Given the description of an element on the screen output the (x, y) to click on. 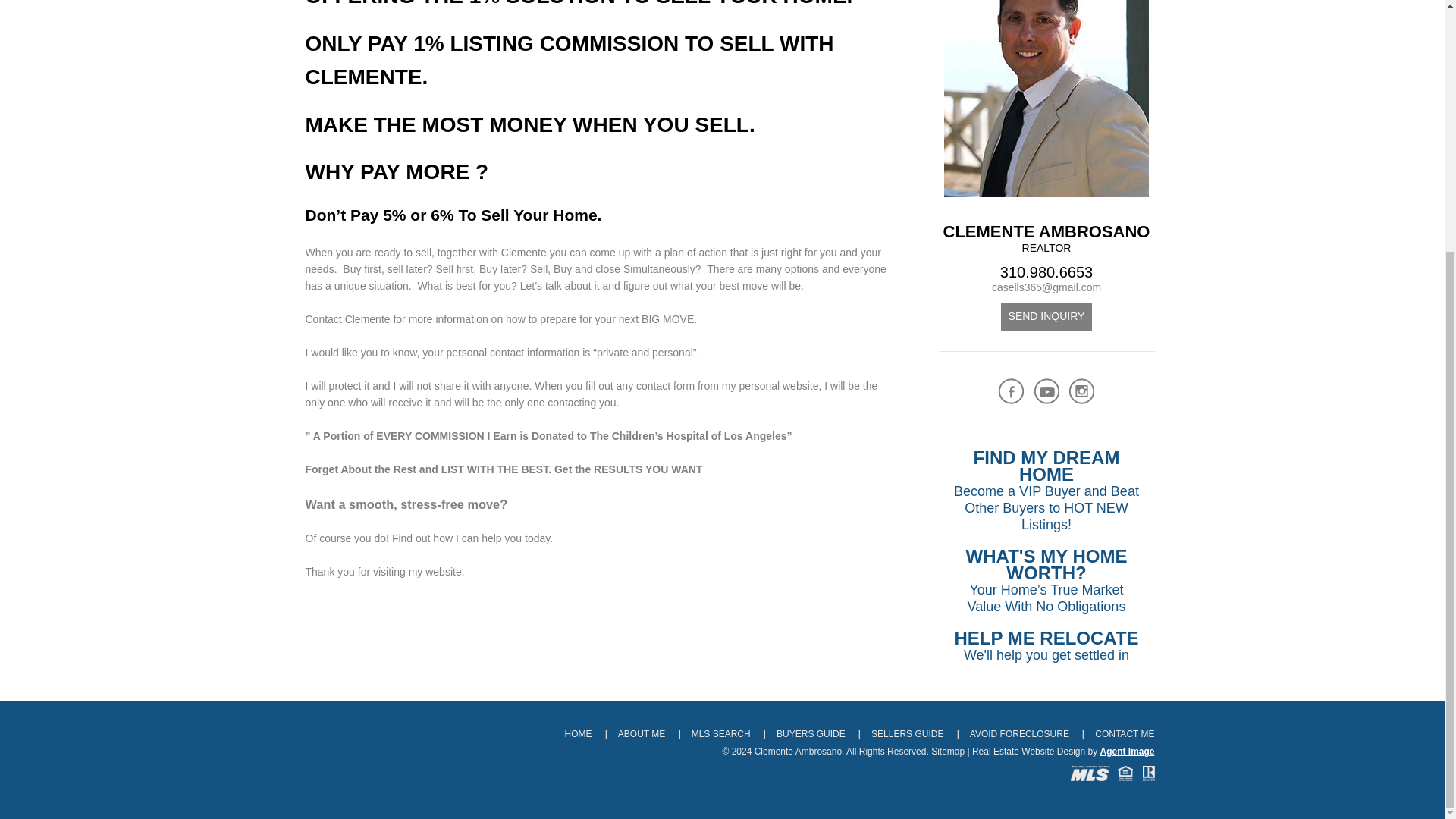
Sitemap (947, 751)
Agent Image (1126, 751)
BUYERS GUIDE (1046, 646)
MLS SEARCH (810, 734)
SEND INQUIRY (721, 734)
ABOUT ME (1047, 316)
SELLERS GUIDE (641, 734)
AVOID FORECLOSURE (906, 734)
